Given the description of an element on the screen output the (x, y) to click on. 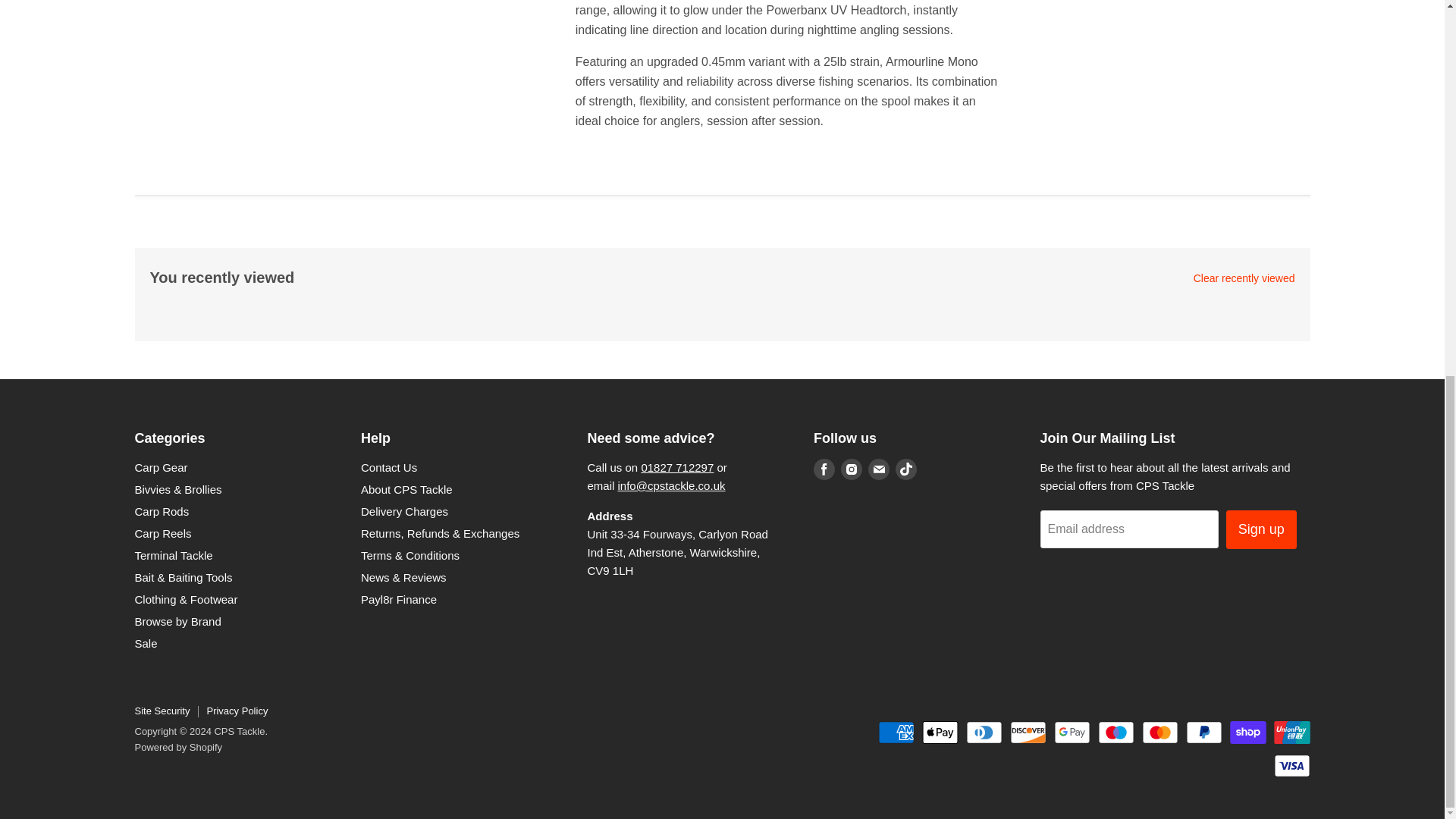
Email (878, 468)
Facebook (823, 468)
Instagram (851, 468)
TikTok (906, 468)
